Given the description of an element on the screen output the (x, y) to click on. 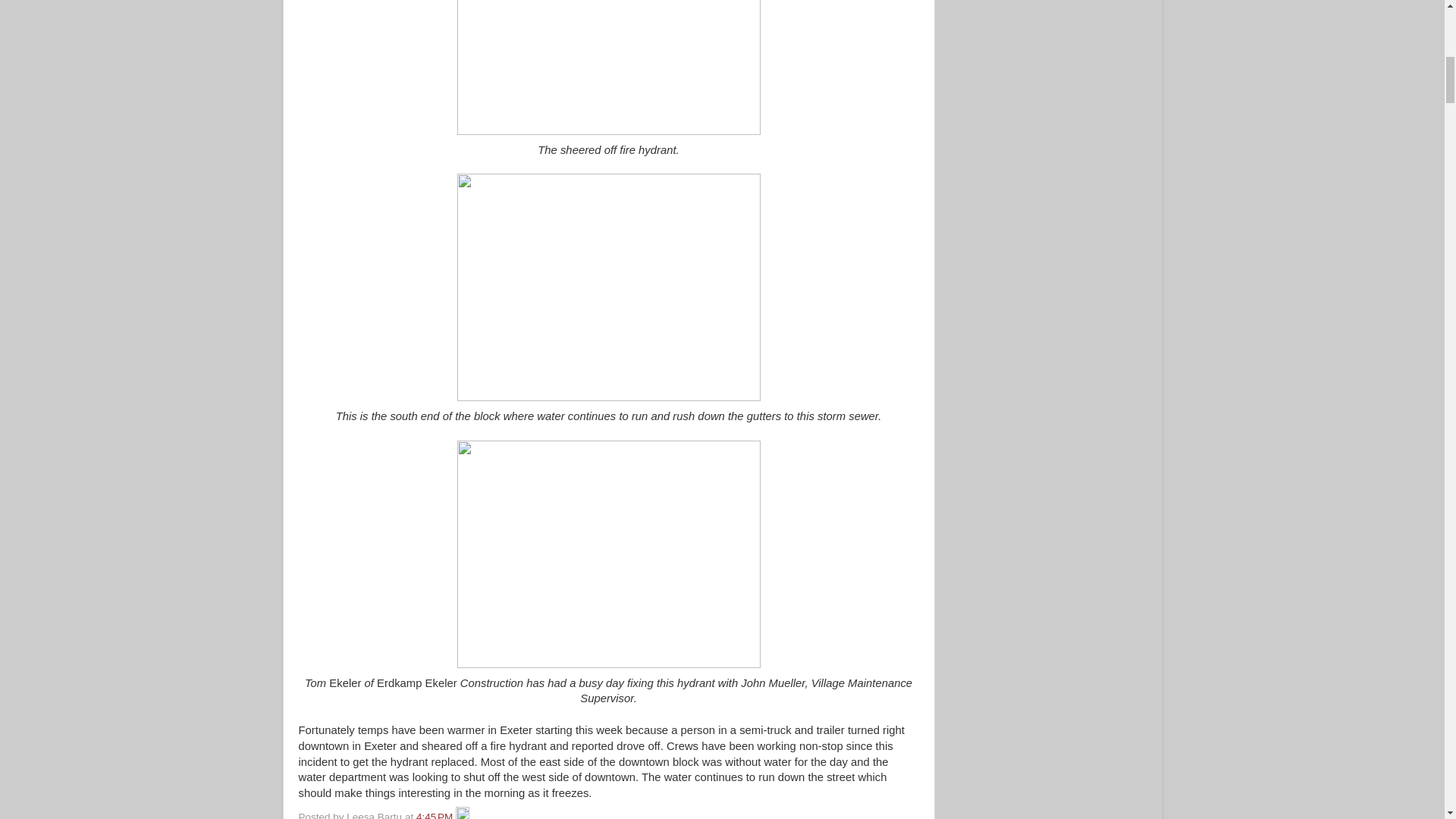
Edit Post (461, 815)
permanent link (434, 815)
